Given the description of an element on the screen output the (x, y) to click on. 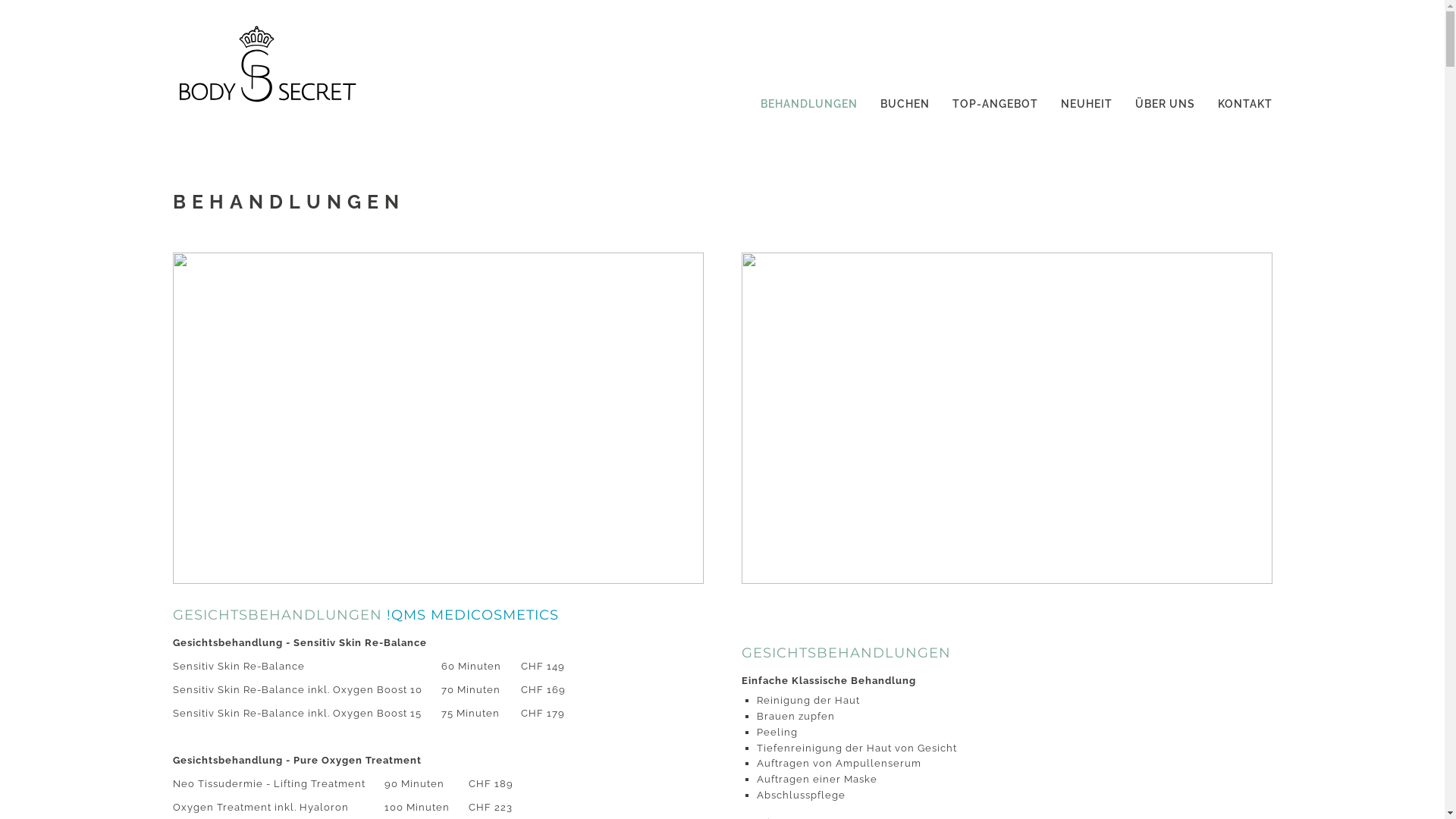
TOP-ANGEBOT Element type: text (995, 99)
BEHANDLUNGEN Element type: text (807, 99)
KONTAKT Element type: text (1244, 99)
BUCHEN Element type: text (903, 99)
NEUHEIT Element type: text (1085, 99)
